Given the description of an element on the screen output the (x, y) to click on. 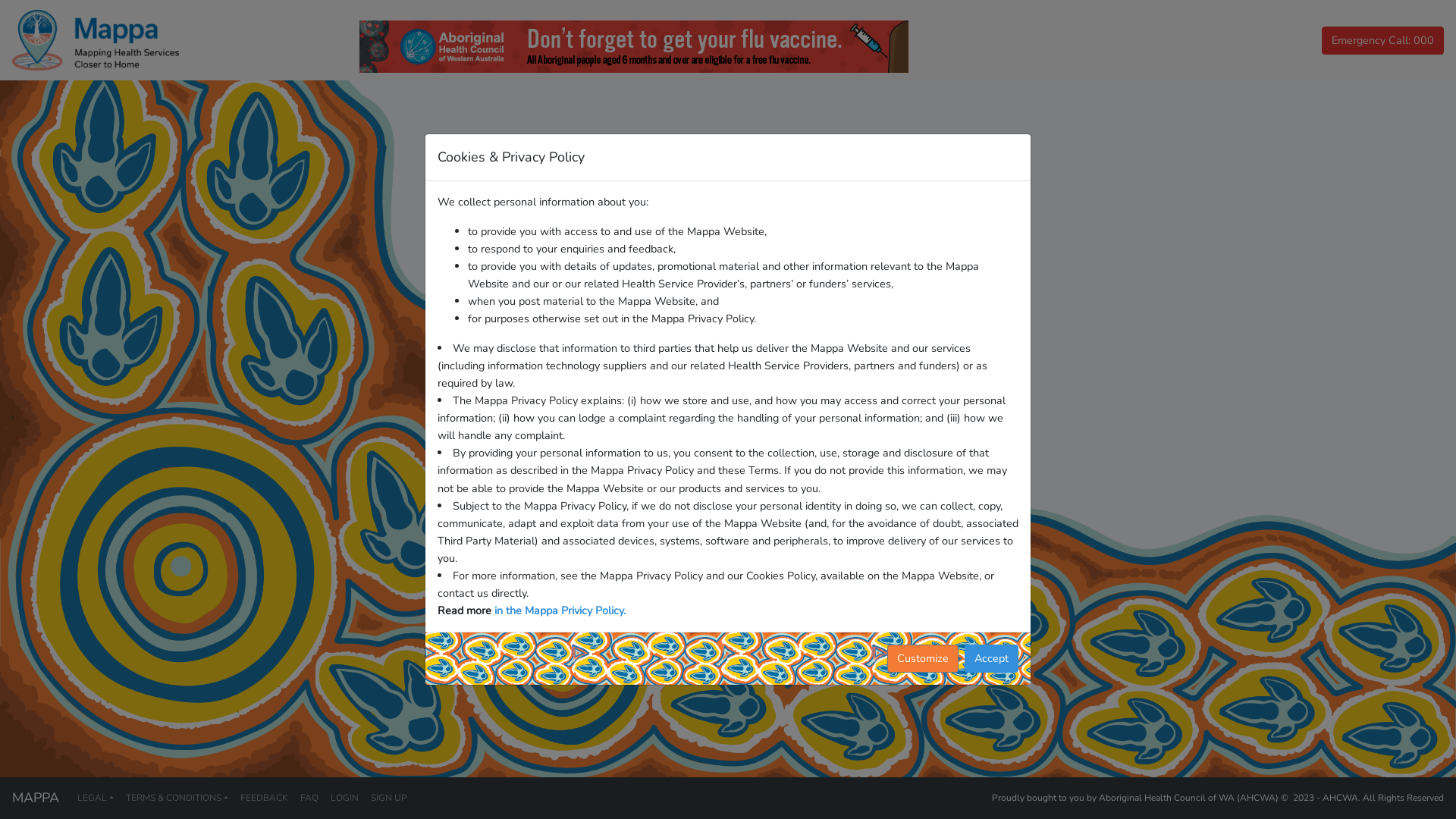
Customize Element type: text (922, 658)
FAQ Element type: text (309, 797)
SIGN UP Element type: text (388, 797)
Feedback Element type: text (958, 338)
MAPPA Element type: text (35, 797)
Search Element type: text (727, 301)
About Element type: text (488, 338)
TERMS & CONDITIONS Element type: text (176, 797)
FEEDBACK Element type: text (264, 797)
in the Mappa Privicy Policy. Element type: text (559, 610)
Video Element type: text (719, 338)
Accept Element type: text (991, 658)
Emergency Call: 000 Element type: text (1382, 40)
LEGAL Element type: text (95, 797)
LOGIN Element type: text (344, 797)
